Given the description of an element on the screen output the (x, y) to click on. 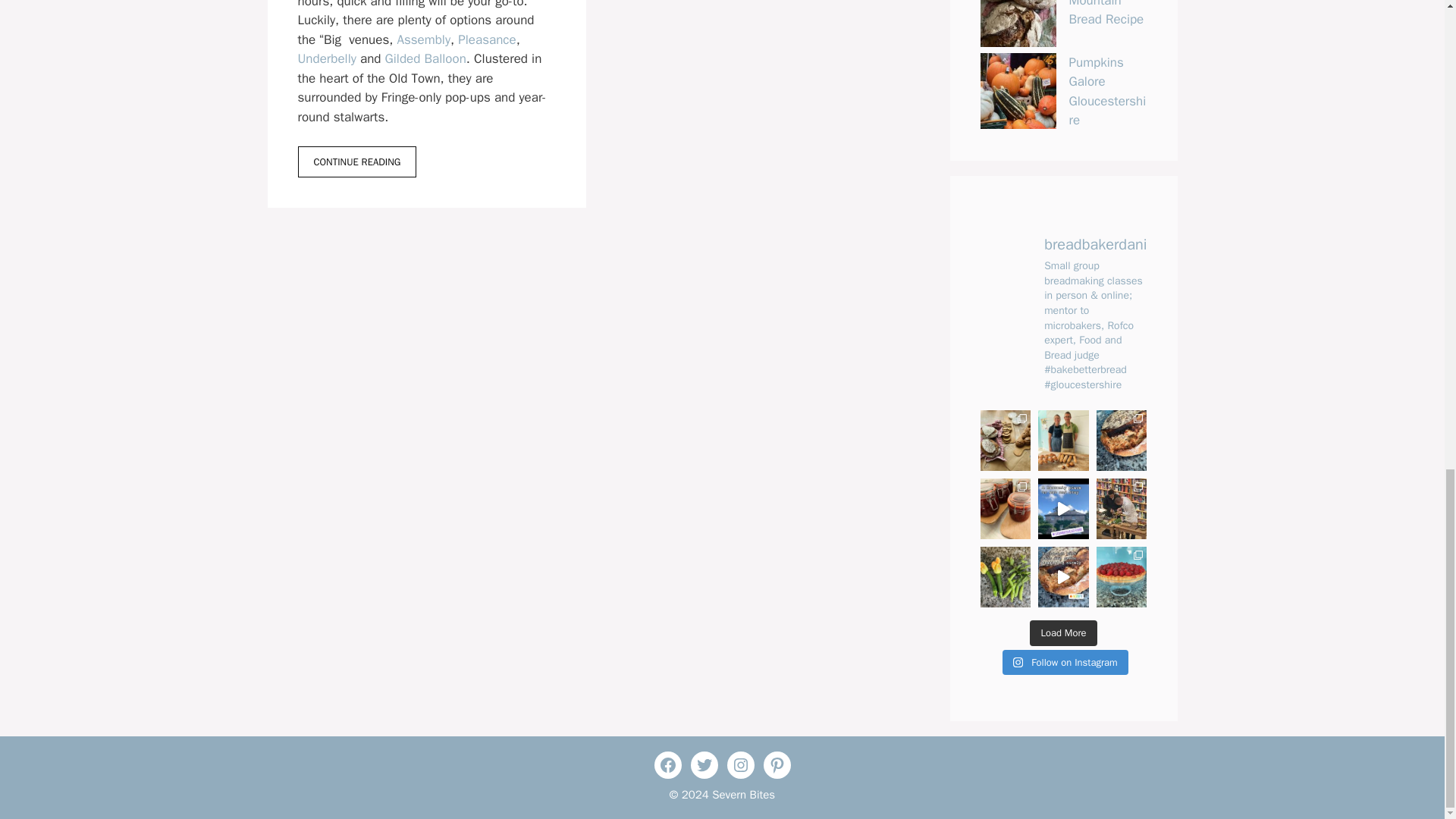
Pleasance (486, 39)
Assembly (422, 39)
Pumpkins Galore Gloucestershire (1107, 91)
Top Tips for Edinburgh Fringe Eating and Drinking (356, 162)
Gilded Balloon (425, 58)
Italian Mountain Bread Recipe (1106, 13)
Underbelly (326, 58)
CONTINUE READING (356, 162)
